Given the description of an element on the screen output the (x, y) to click on. 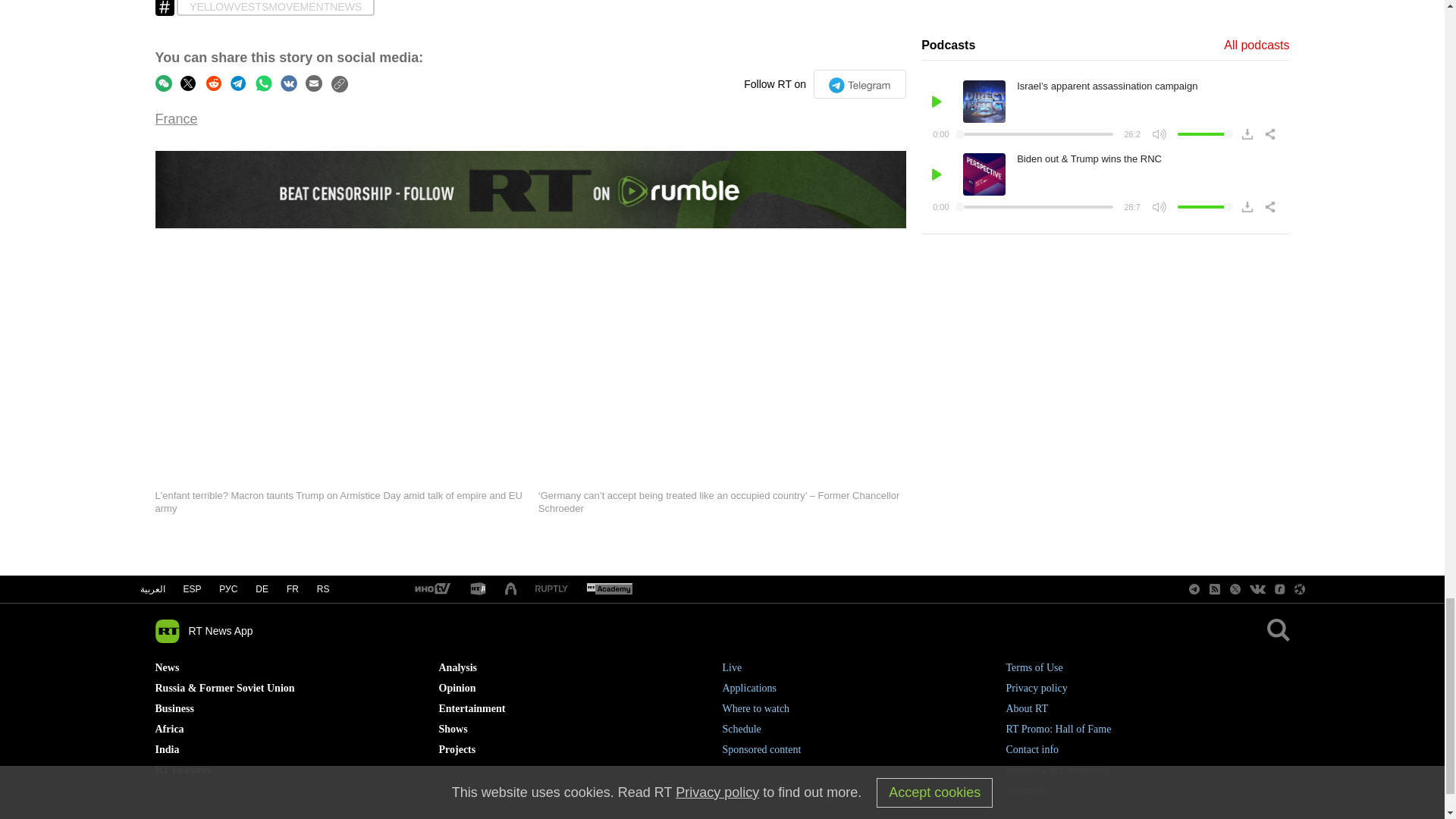
RT  (431, 589)
RT  (478, 589)
RT  (608, 589)
RT  (551, 589)
